Given the description of an element on the screen output the (x, y) to click on. 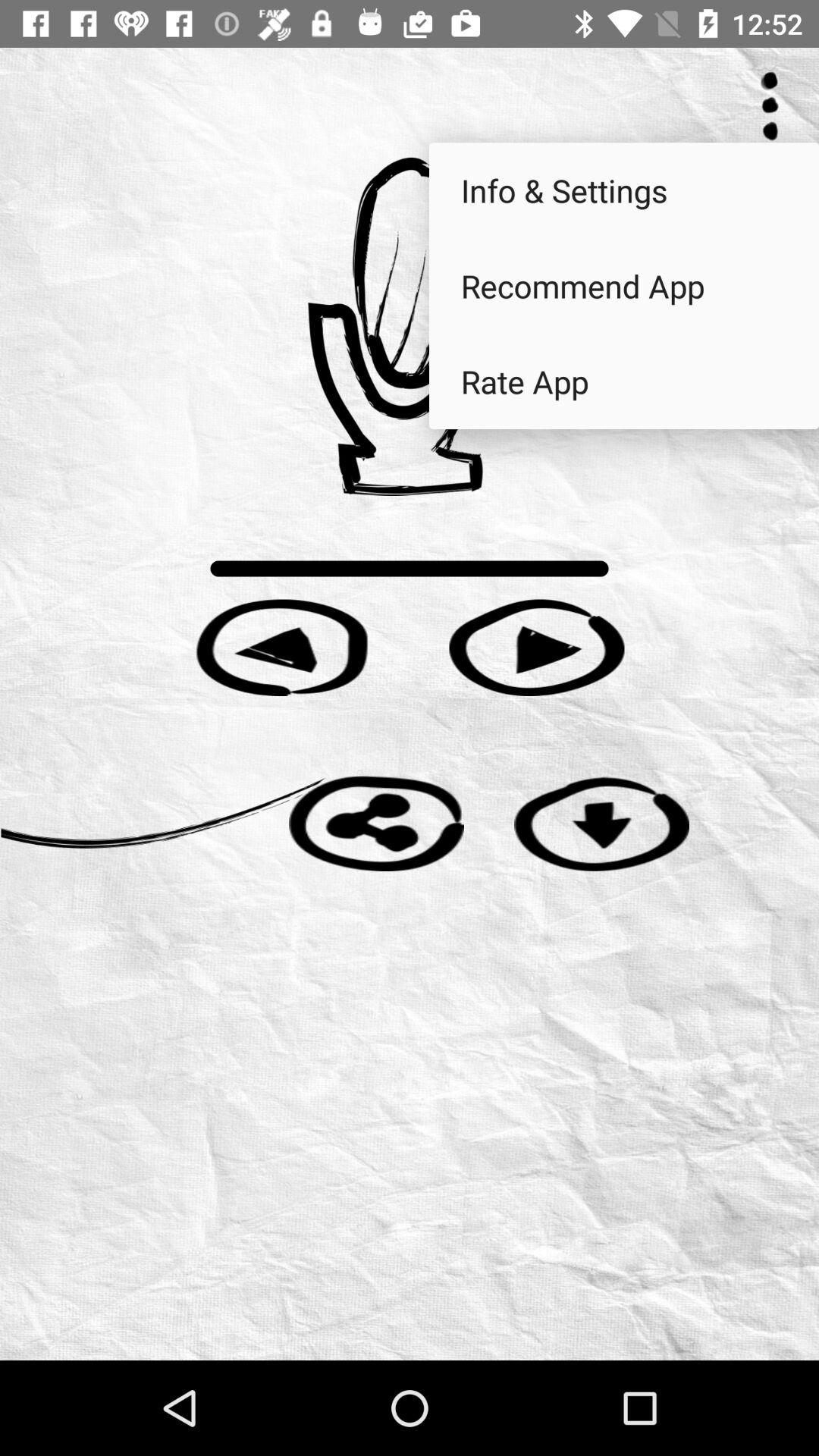
see full menu (769, 106)
